Given the description of an element on the screen output the (x, y) to click on. 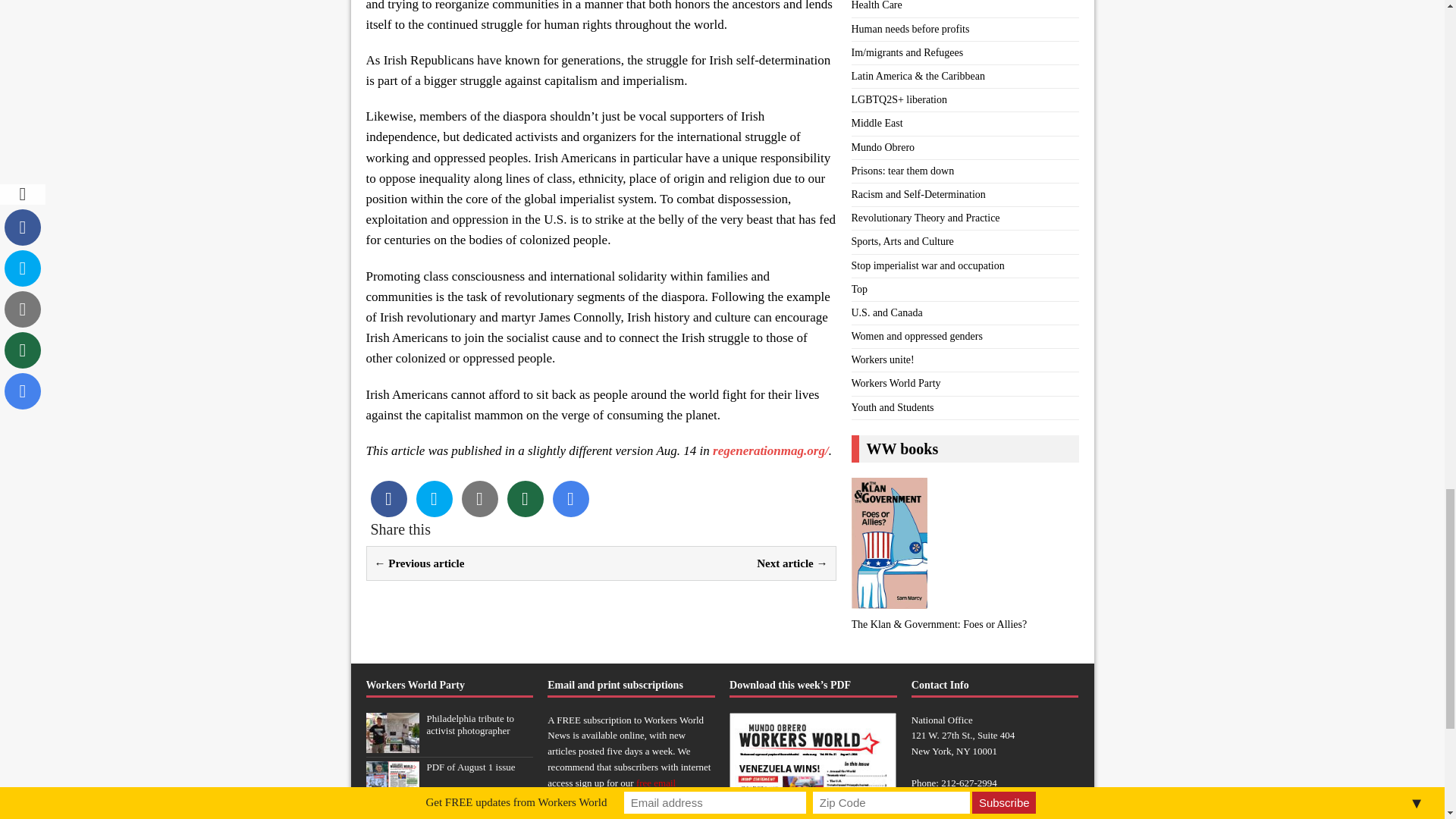
Philadelphia tribute to activist photographer (469, 724)
Philadelphia tribute to activist photographer (392, 744)
PDF of August 1 issue (470, 767)
PDF of August 1 issue (392, 792)
Venezuela wins! (459, 814)
